Given the description of an element on the screen output the (x, y) to click on. 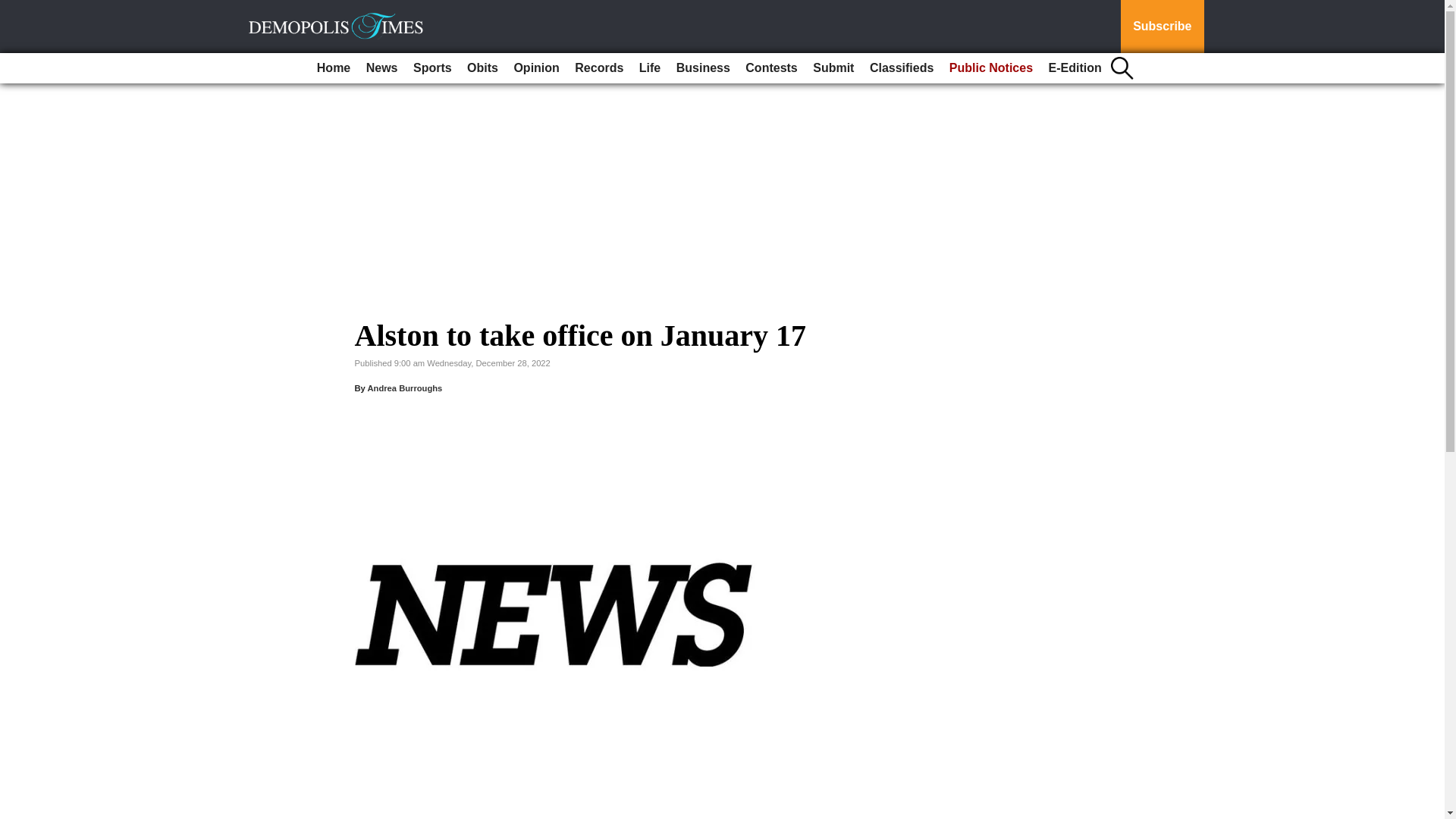
E-Edition (1075, 68)
Business (702, 68)
Records (598, 68)
Sports (432, 68)
Obits (482, 68)
Contests (771, 68)
Classifieds (901, 68)
News (381, 68)
Andrea Burroughs (404, 388)
Public Notices (991, 68)
